Given the description of an element on the screen output the (x, y) to click on. 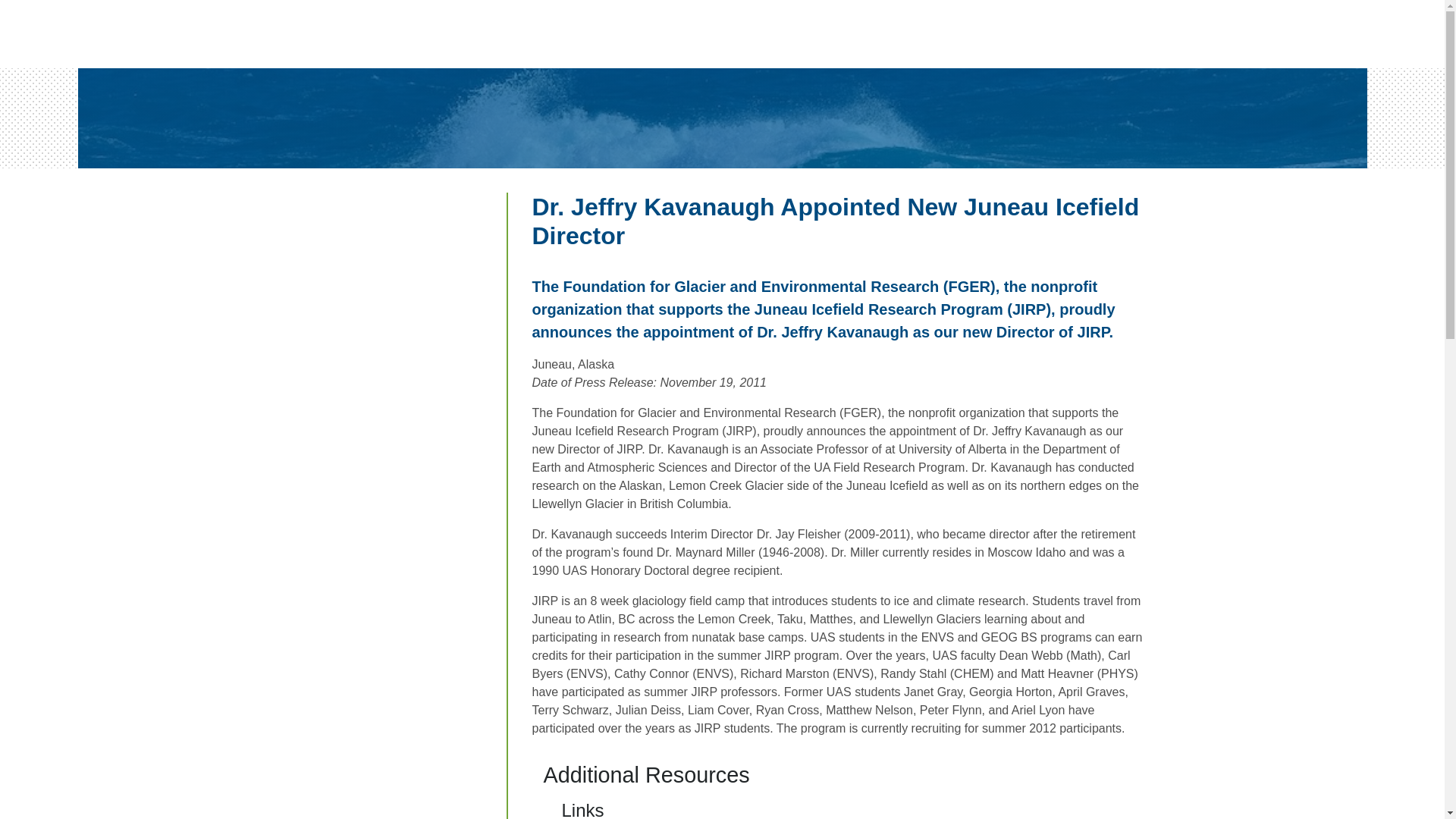
Skip to Main Content (66, 15)
